Given the description of an element on the screen output the (x, y) to click on. 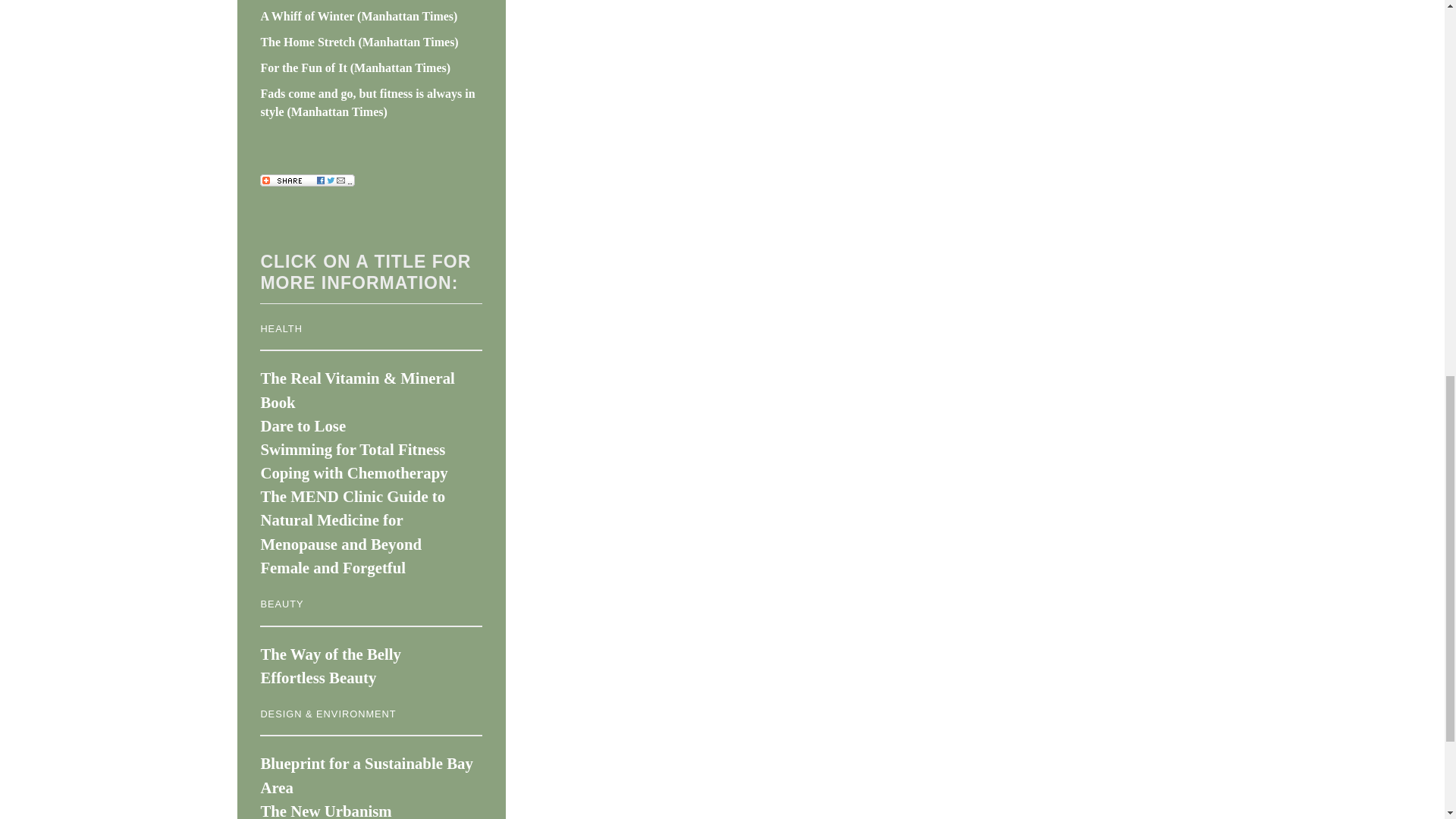
Blueprint for a Sustainable Bay Area (365, 774)
Swimming for Total Fitness (352, 448)
The New Urbanism (325, 810)
Effortless Beauty (317, 677)
Female and Forgetful (333, 567)
Coping with Chemotherapy (353, 472)
The Way of the Belly (330, 653)
Dare to Lose (303, 425)
